Given the description of an element on the screen output the (x, y) to click on. 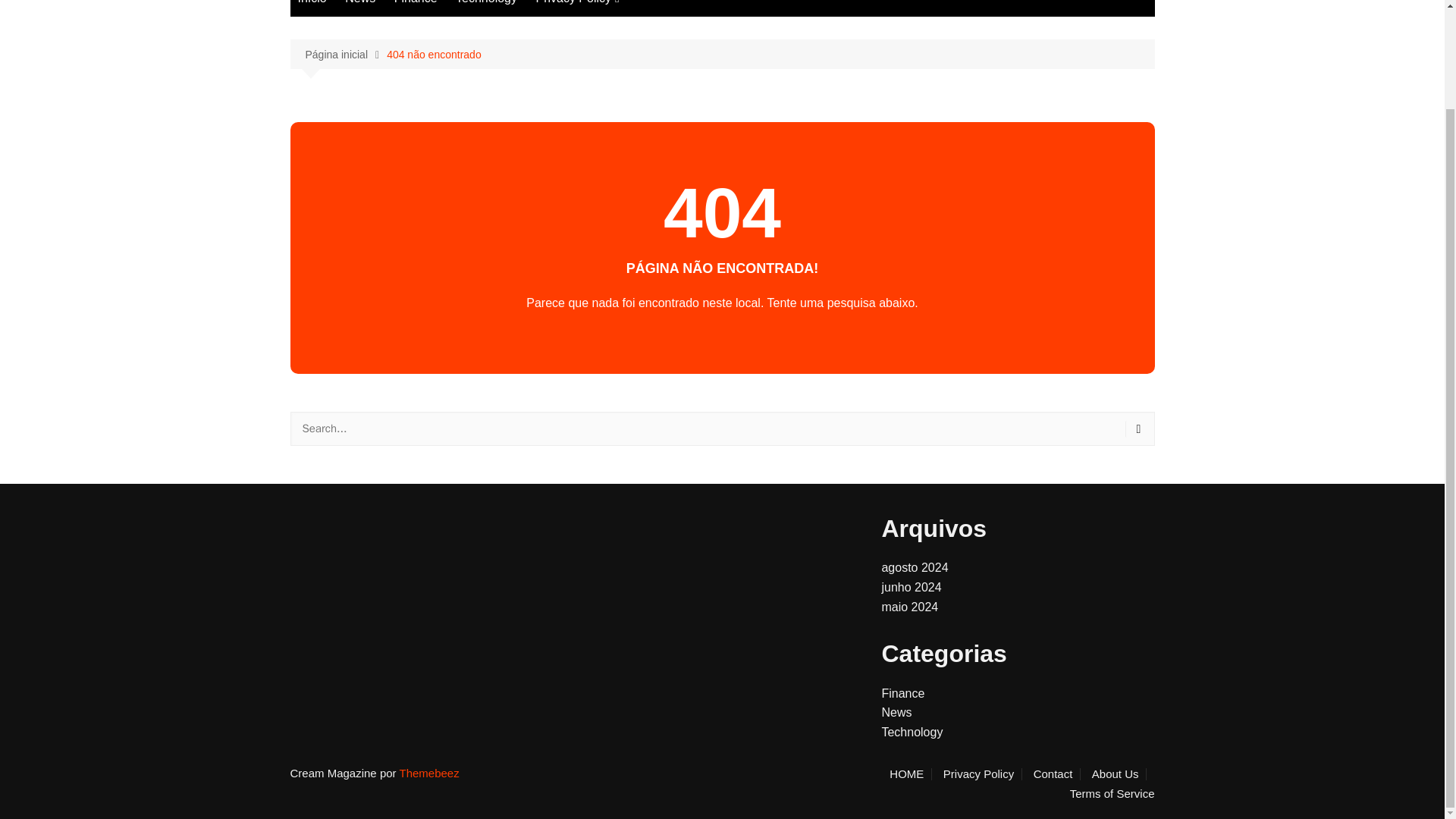
Finance (902, 693)
junho 2024 (910, 586)
News (895, 712)
Terms of Service (610, 78)
Privacy Policy (982, 774)
maio 2024 (908, 606)
HOME (910, 774)
agosto 2024 (913, 567)
About Us (1119, 774)
About Us (610, 53)
